Given the description of an element on the screen output the (x, y) to click on. 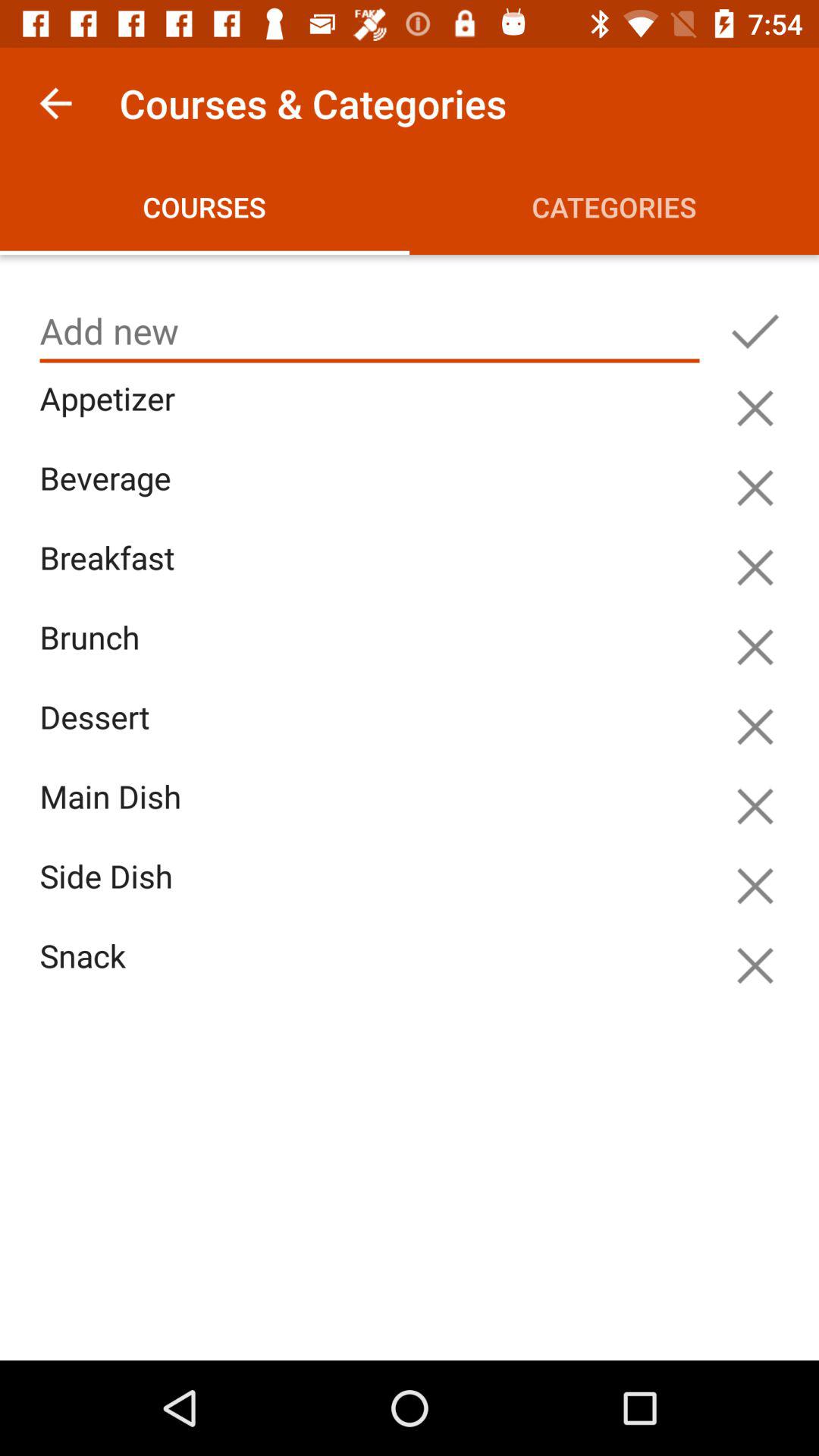
jump until breakfast (373, 575)
